Given the description of an element on the screen output the (x, y) to click on. 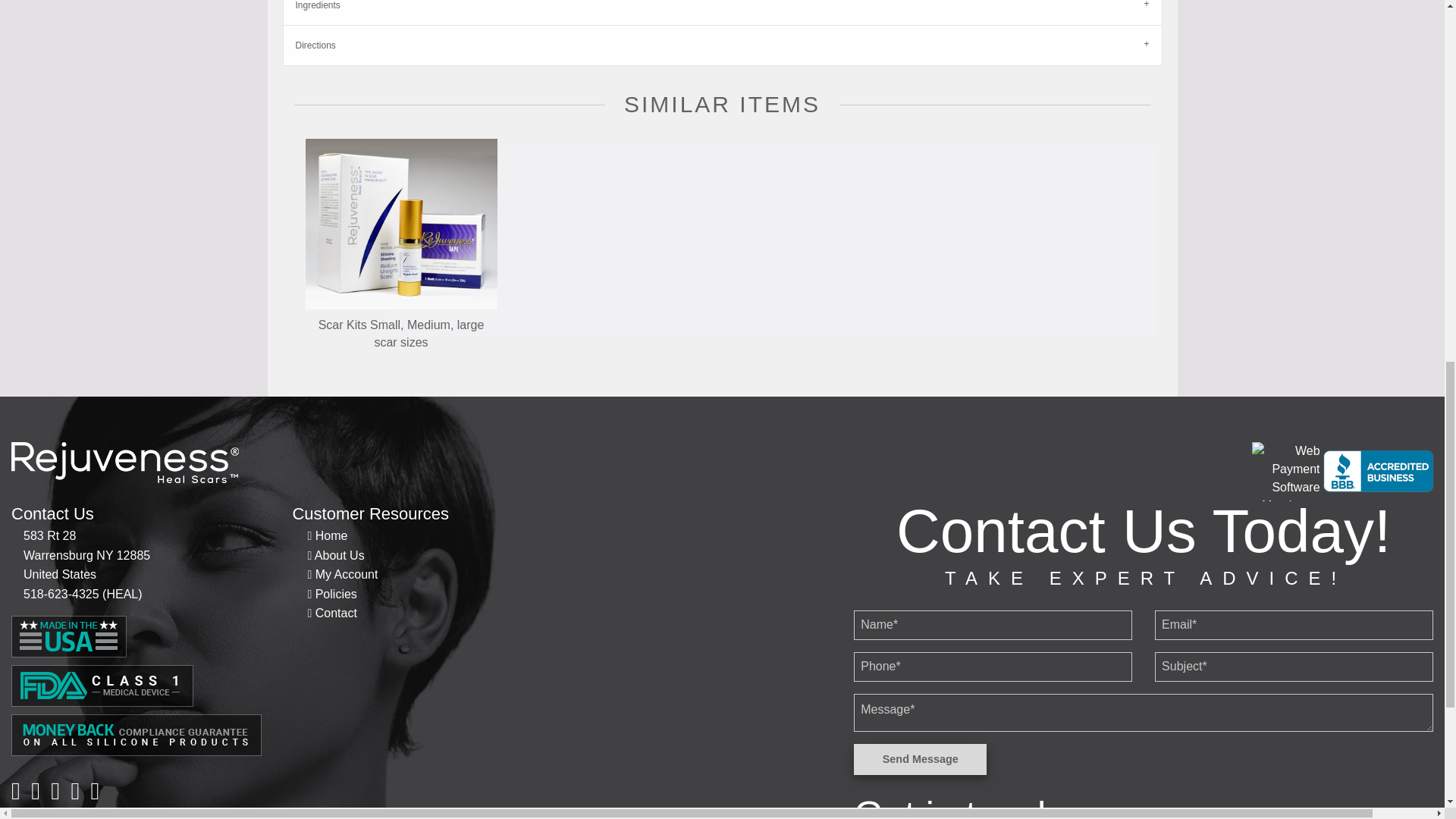
Scar Kits Small, Medium, large scar sizes (400, 223)
Scar Kits Small, Medium, large scar sizes (400, 223)
